Given the description of an element on the screen output the (x, y) to click on. 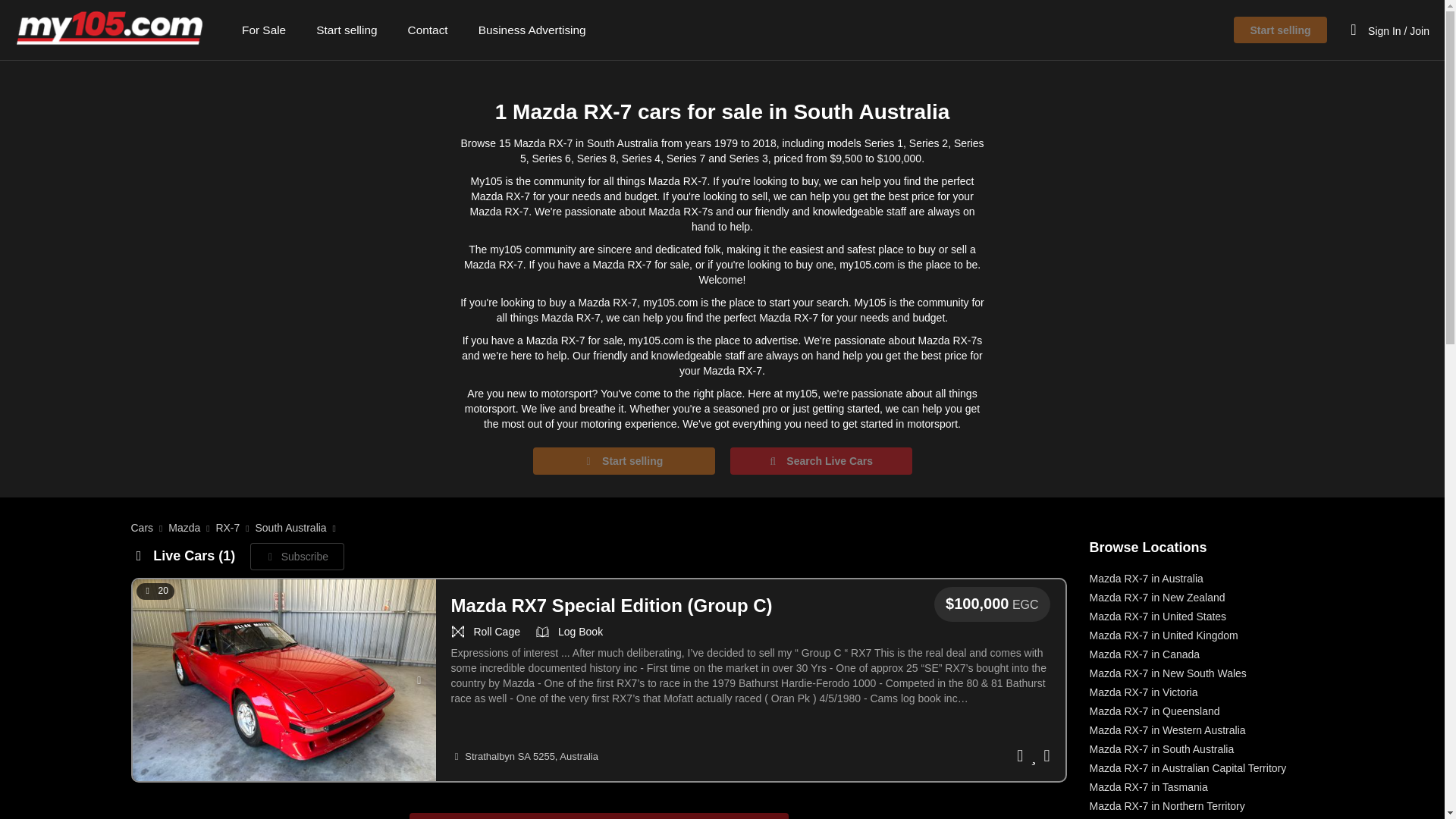
Mazda RX-7 in Northern Territory (1166, 806)
Start selling (1279, 30)
Mazda RX-7 in South Australia (1161, 748)
Start selling (623, 461)
Start selling (346, 29)
Business Advertising (532, 29)
Mazda RX-7 in Queensland (1154, 711)
Search Live Cars (820, 461)
Mazda (184, 527)
Mazda RX-7 in Canada (1144, 654)
South Australia (290, 527)
Contact (427, 29)
Mazda RX-7 in Victoria (1143, 692)
Mazda RX-7 in Australia (1146, 578)
Mazda RX-7 in Australian Capital Territory (1188, 767)
